Given the description of an element on the screen output the (x, y) to click on. 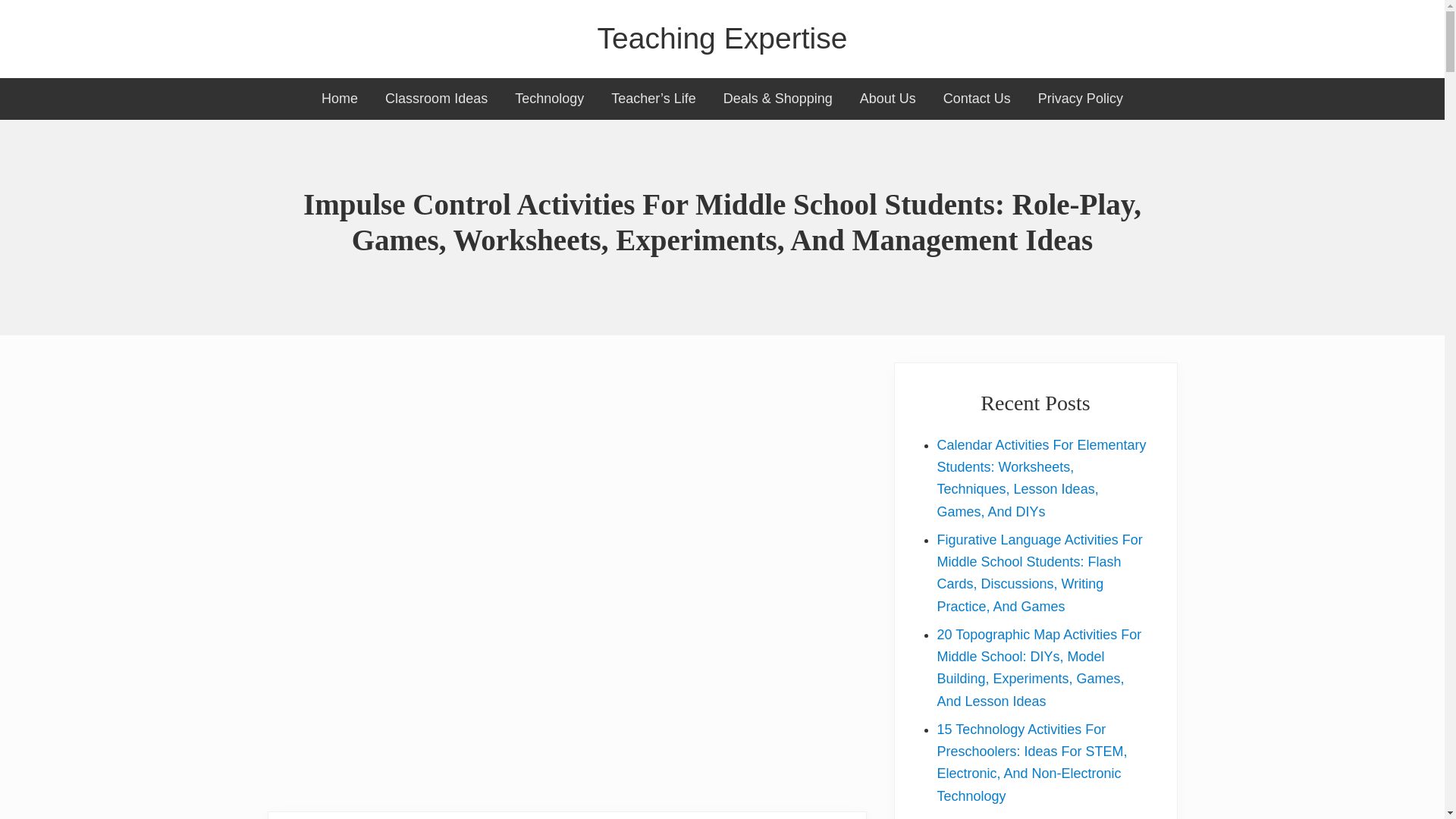
Technology (548, 98)
About Us (887, 98)
Teaching Expertise (721, 38)
Privacy Policy (1081, 98)
Home (339, 98)
Classroom Ideas (435, 98)
Contact Us (977, 98)
